Given the description of an element on the screen output the (x, y) to click on. 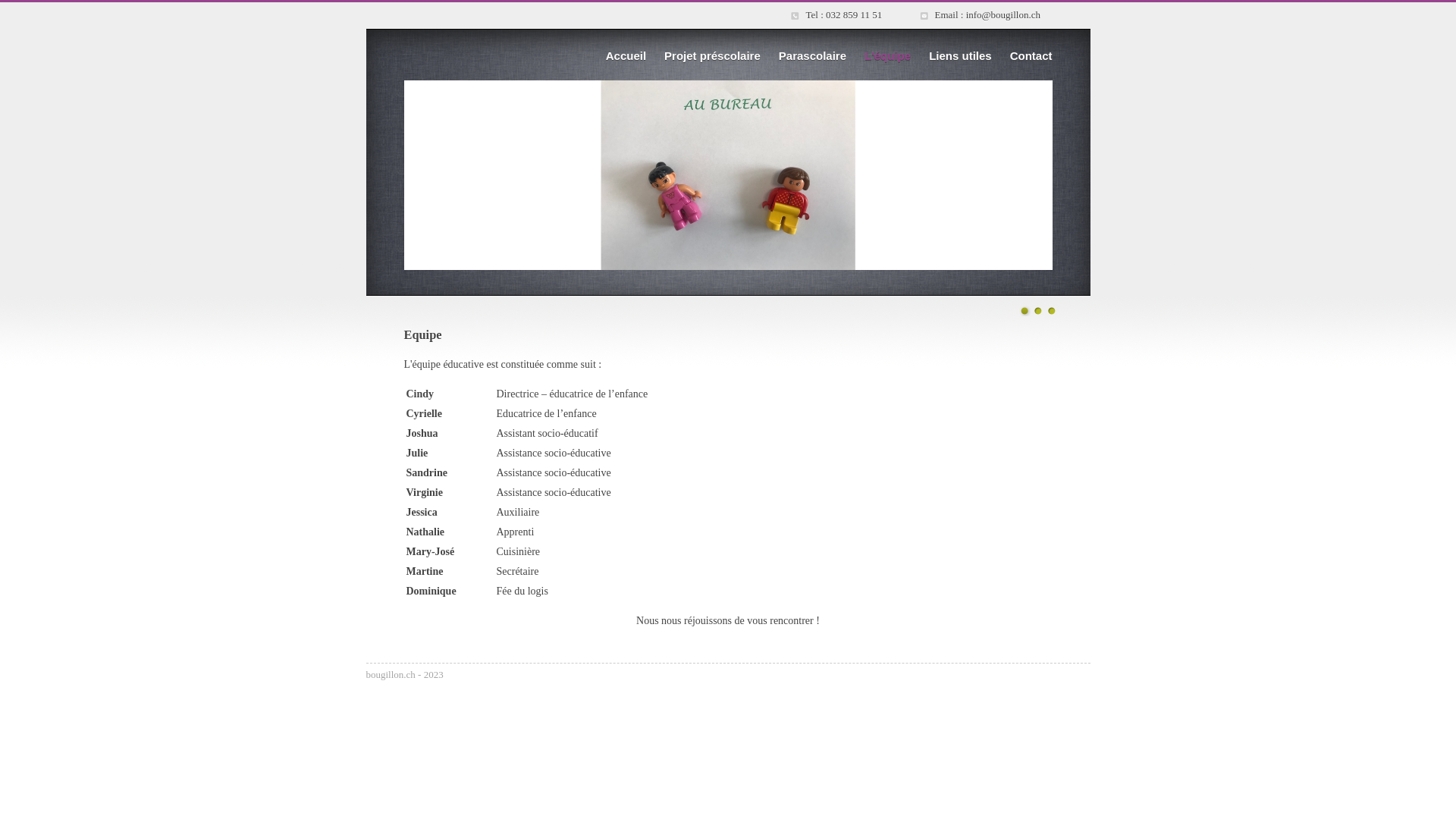
Accueil Element type: text (625, 55)
Liens utiles Element type: text (959, 55)
Contact Element type: text (1031, 55)
Parascolaire Element type: text (812, 55)
